Given the description of an element on the screen output the (x, y) to click on. 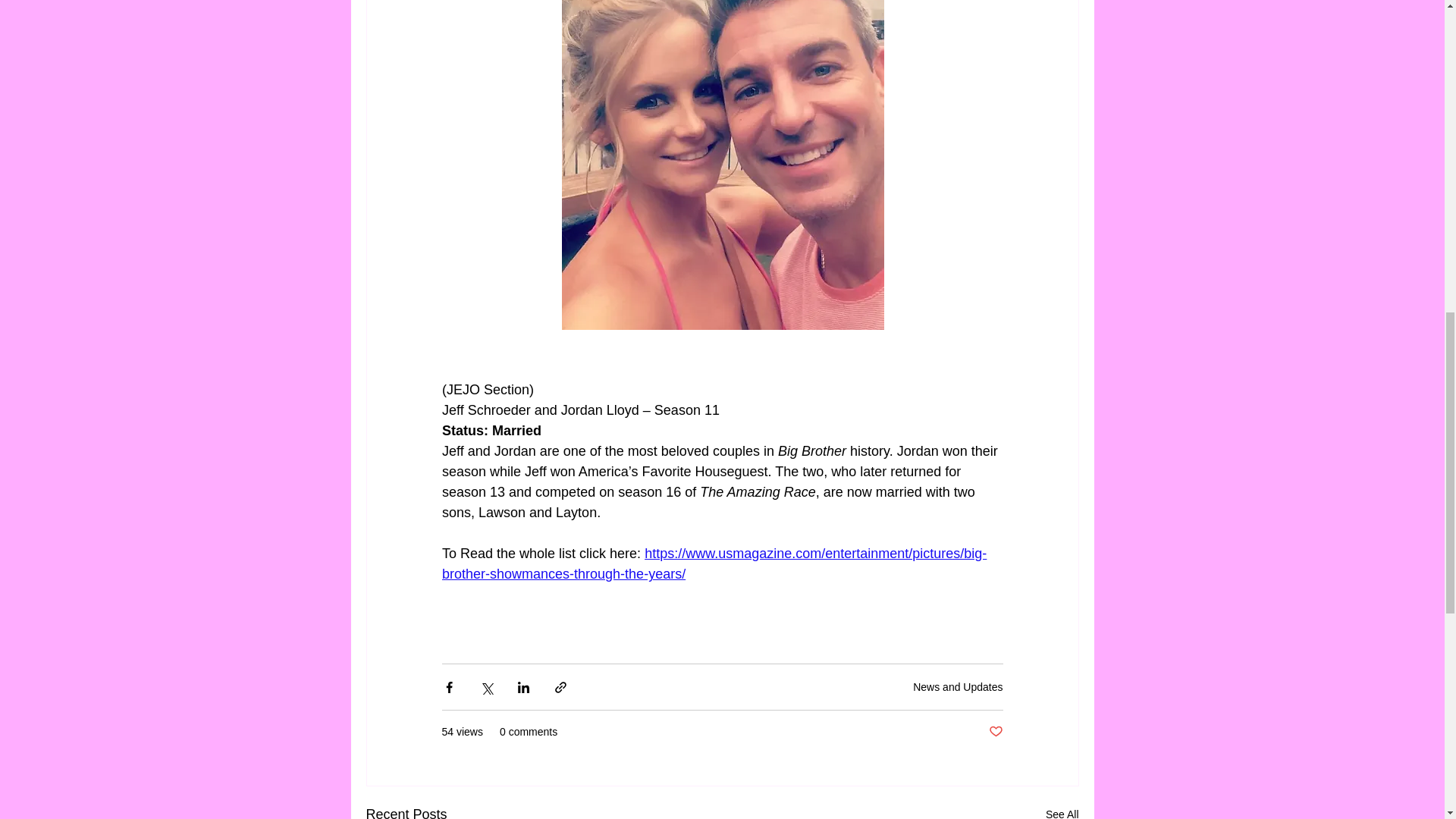
Post not marked as liked (995, 731)
News and Updates (957, 686)
